Given the description of an element on the screen output the (x, y) to click on. 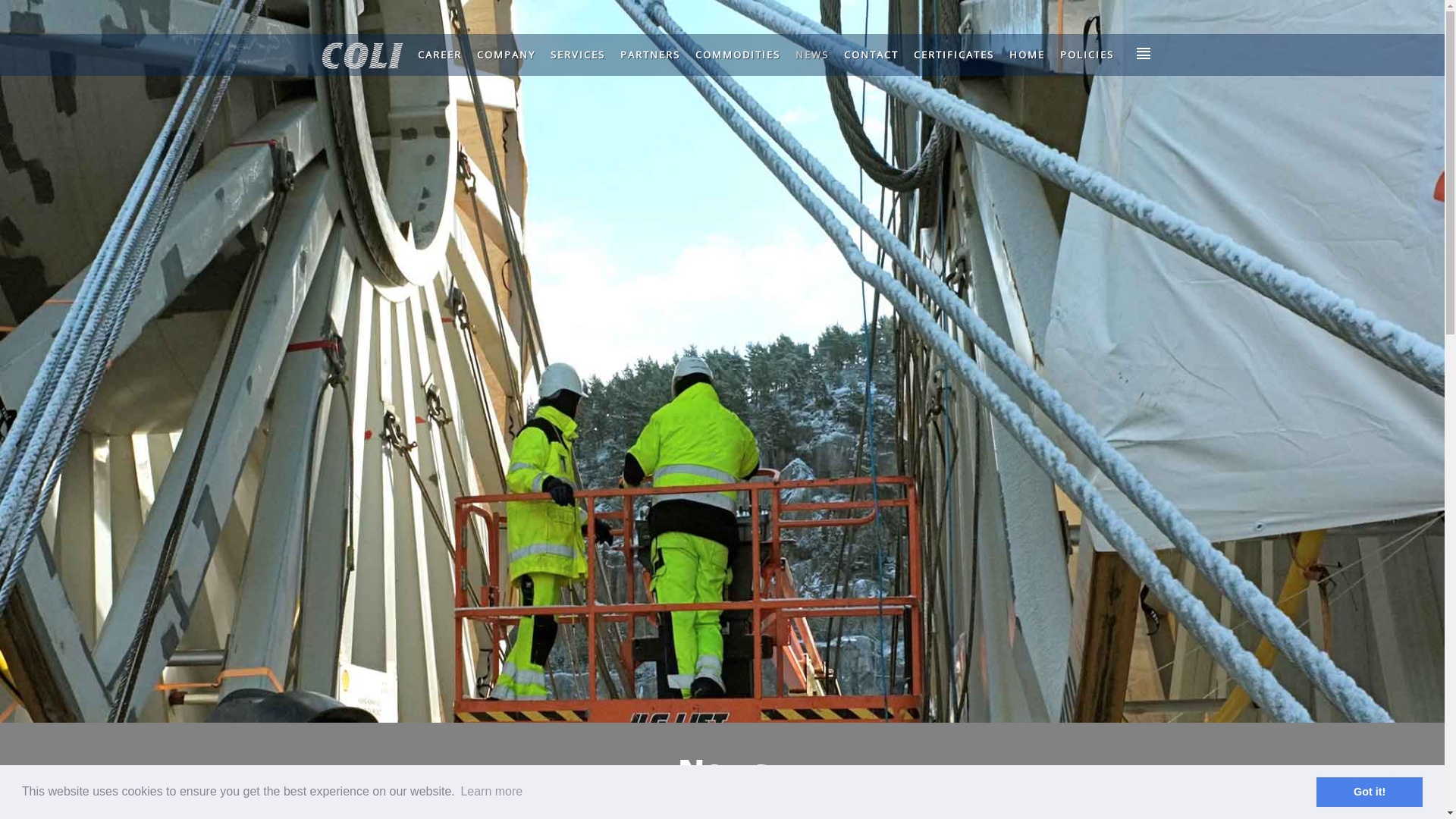
CAREER Element type: text (438, 54)
Learn more Element type: text (491, 791)
COMMODITIES Element type: text (737, 54)
POLICIES Element type: text (1086, 54)
NEWS Element type: text (811, 54)
Breakbulk and heavylift shipping - Coli Shipping Element type: hover (364, 52)
COMPANY Element type: text (505, 54)
Got it! Element type: text (1369, 791)
CERTIFICATES Element type: text (953, 54)
SERVICES Element type: text (577, 54)
CONTACT Element type: text (870, 54)
HOME Element type: text (1026, 54)
PARTNERS Element type: text (649, 54)
